Given the description of an element on the screen output the (x, y) to click on. 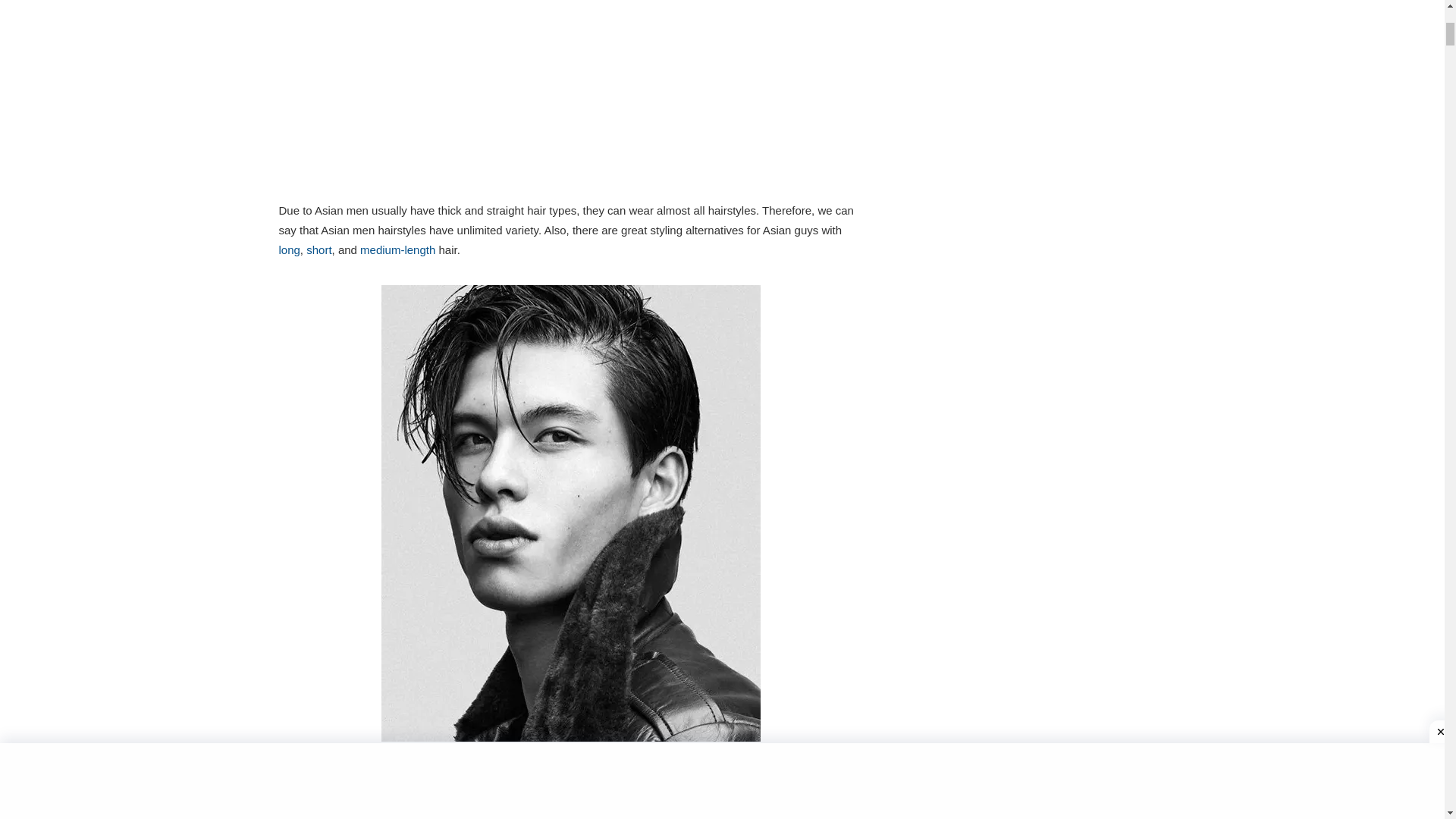
medium-length (397, 249)
Advertisement (571, 97)
short (318, 249)
long (289, 249)
